Given the description of an element on the screen output the (x, y) to click on. 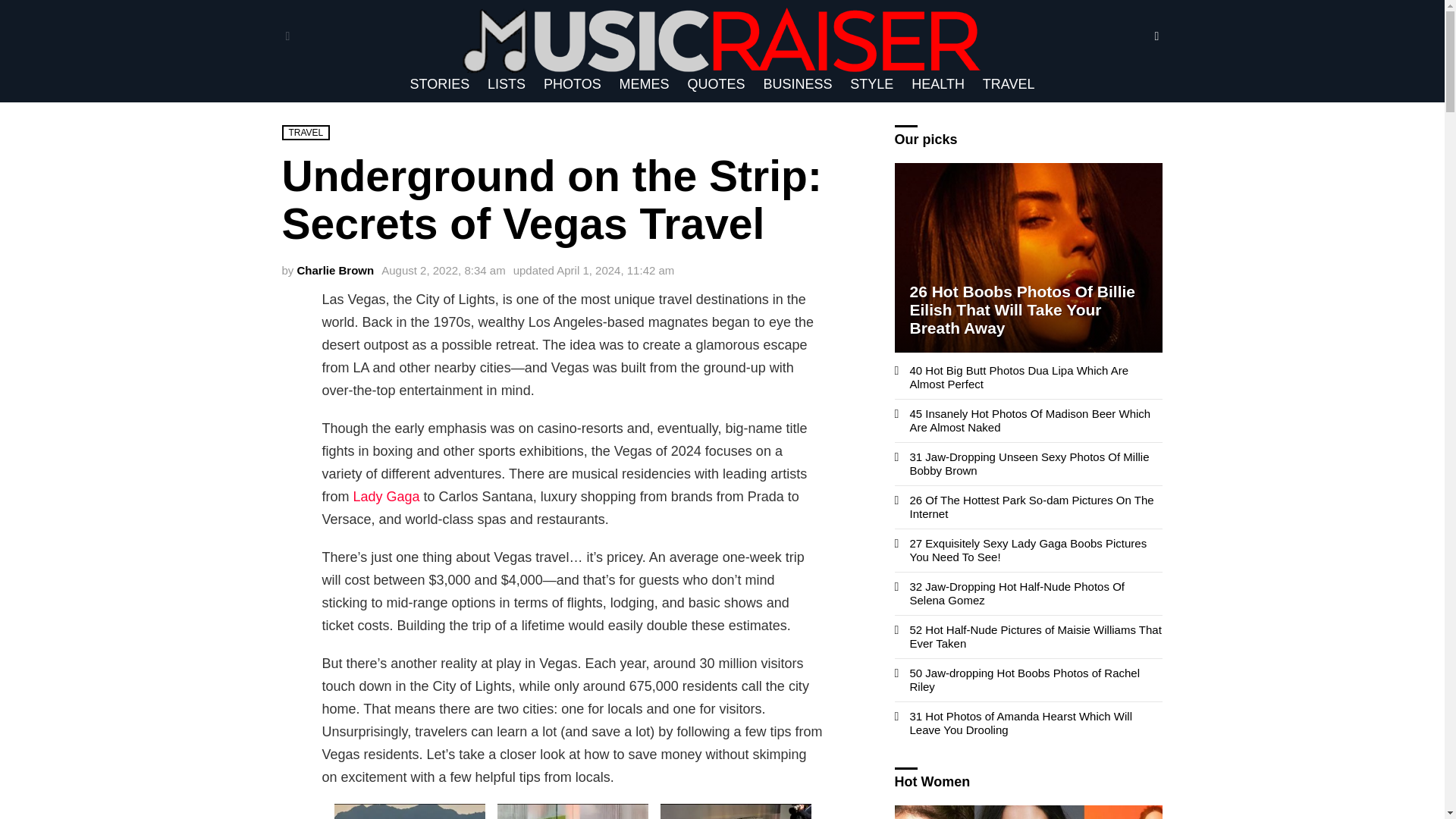
Charlie Brown (335, 269)
BUSINESS (797, 83)
TRAVEL (1008, 83)
TRAVEL (306, 132)
STYLE (872, 83)
LISTS (506, 83)
STORIES (439, 83)
Posts by Charlie Brown (335, 269)
PHOTOS (571, 83)
MEMES (644, 83)
